Given the description of an element on the screen output the (x, y) to click on. 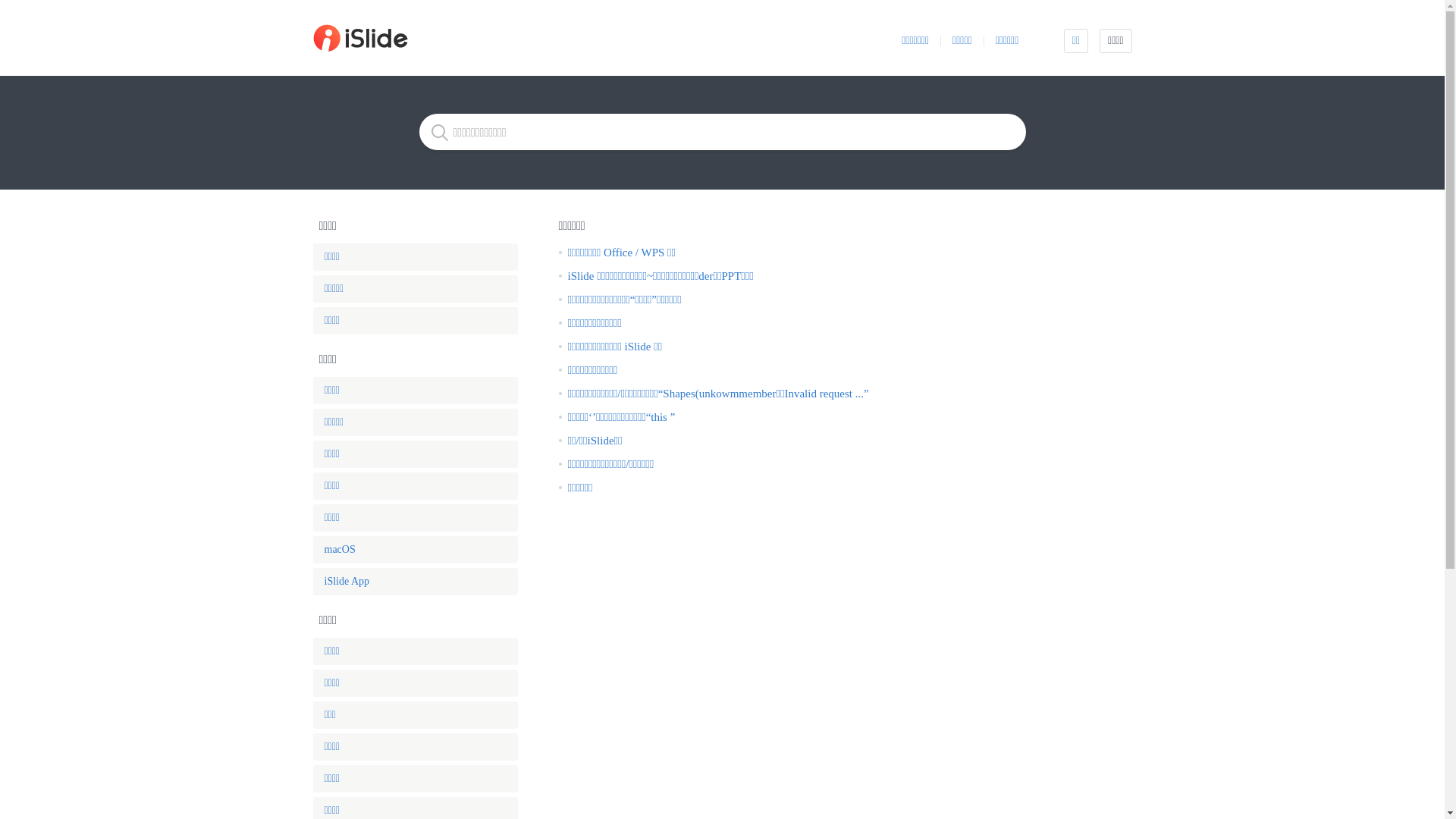
macOS Element type: text (414, 549)
iSlide App Element type: text (414, 581)
iSlide Element type: hover (424, 37)
